Given the description of an element on the screen output the (x, y) to click on. 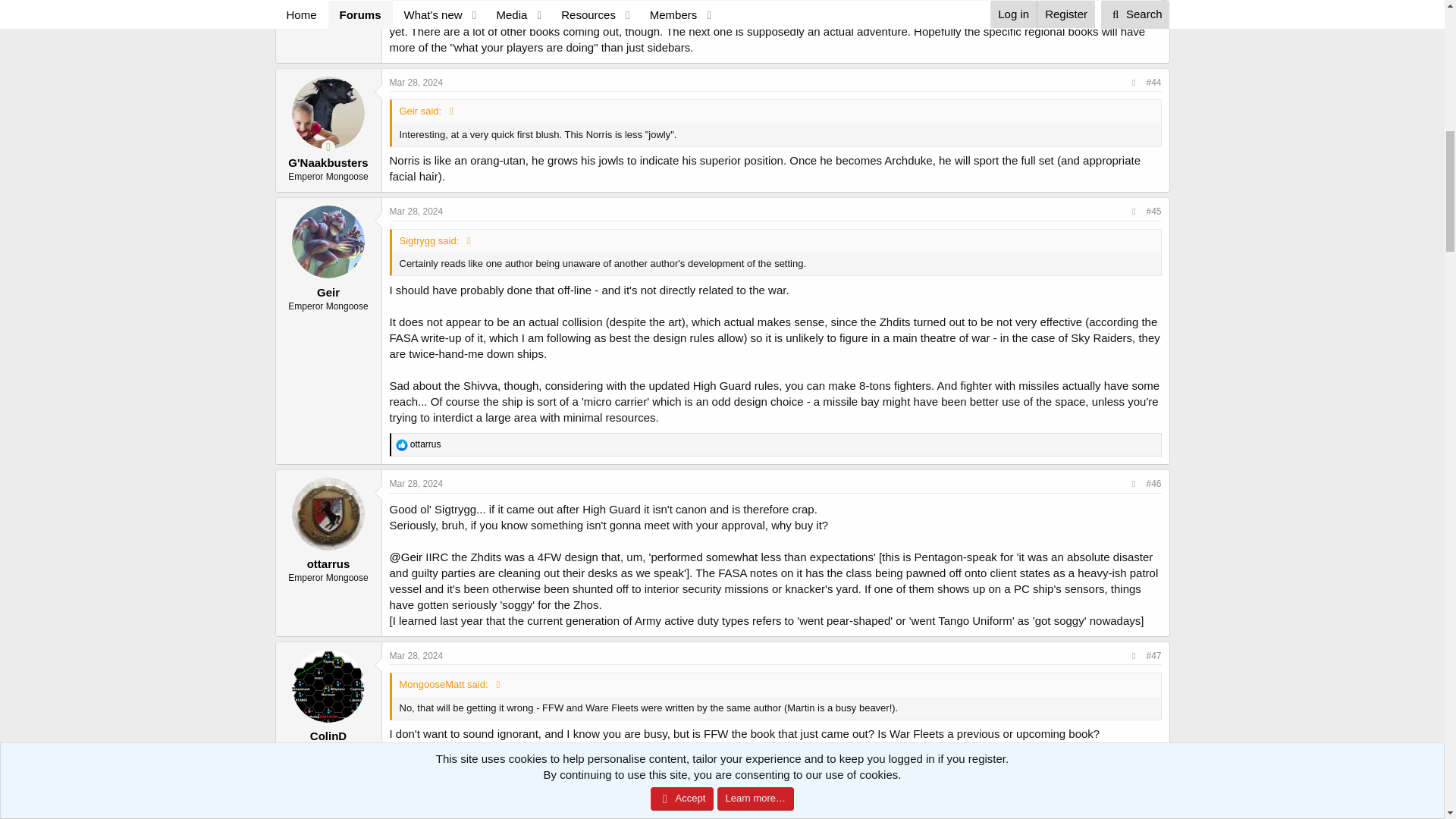
Mar 28, 2024 at 1:24 AM (417, 483)
Mar 28, 2024 at 1:45 AM (417, 783)
Mar 28, 2024 at 12:30 AM (417, 81)
Mar 28, 2024 at 1:25 AM (417, 655)
Like (401, 444)
Mar 28, 2024 at 12:44 AM (417, 211)
